Given the description of an element on the screen output the (x, y) to click on. 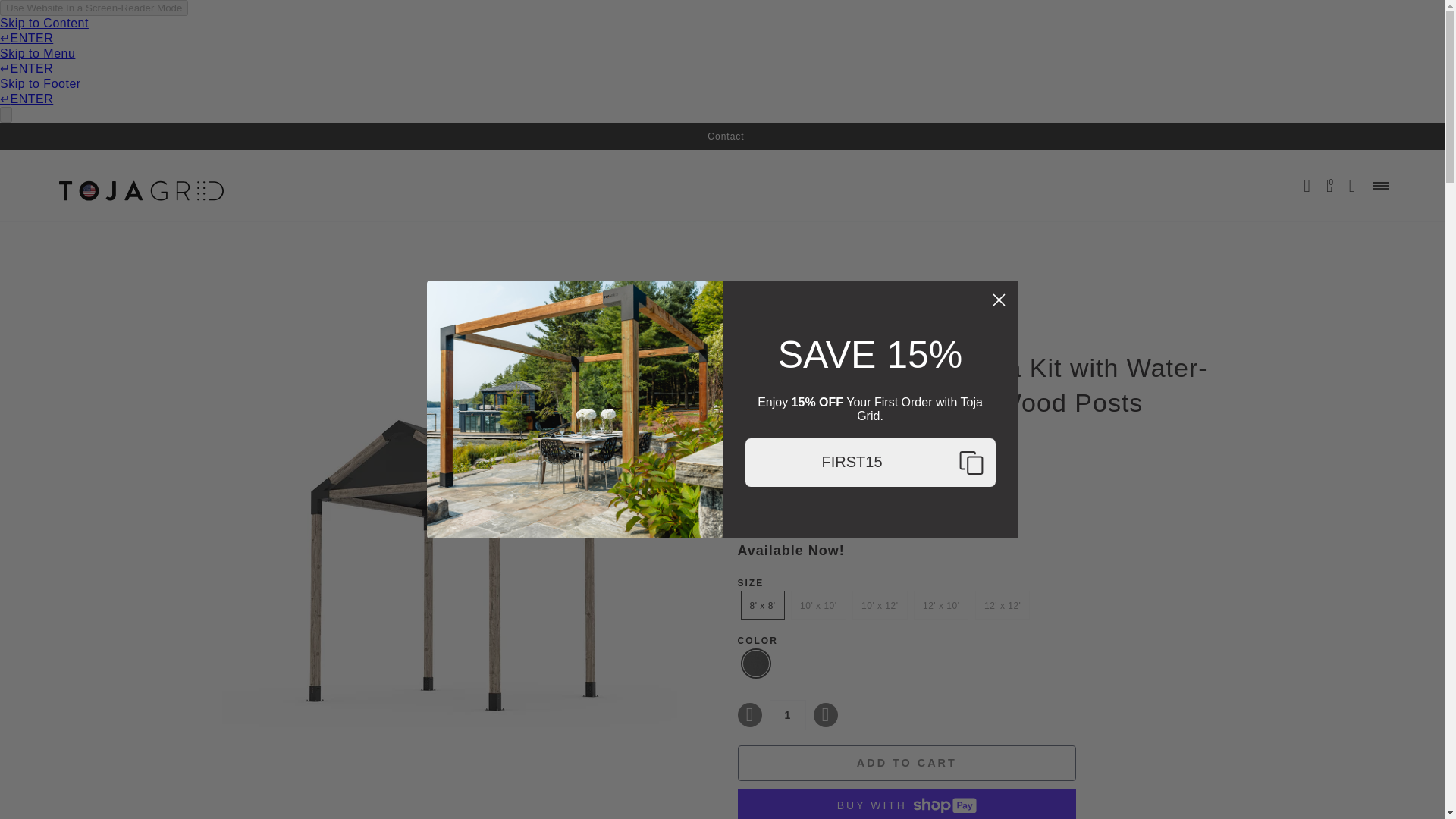
Cart (1329, 185)
Search (1306, 185)
1 (786, 715)
Add to Cart (905, 763)
Contact (725, 136)
Toja Grid (141, 185)
0 (1329, 185)
Log in (1351, 185)
